Given the description of an element on the screen output the (x, y) to click on. 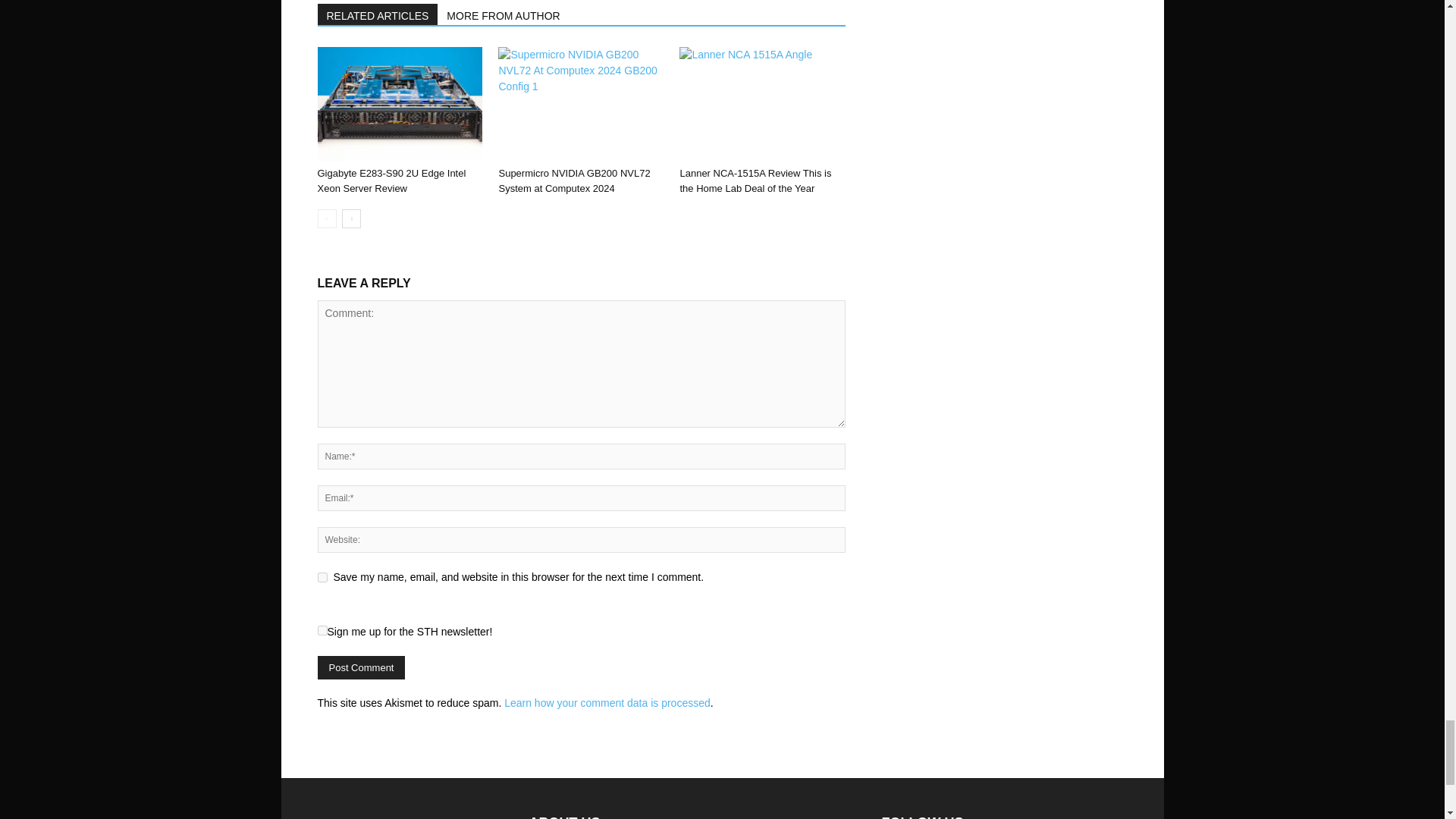
1 (321, 630)
yes (321, 577)
Post Comment (360, 667)
